Given the description of an element on the screen output the (x, y) to click on. 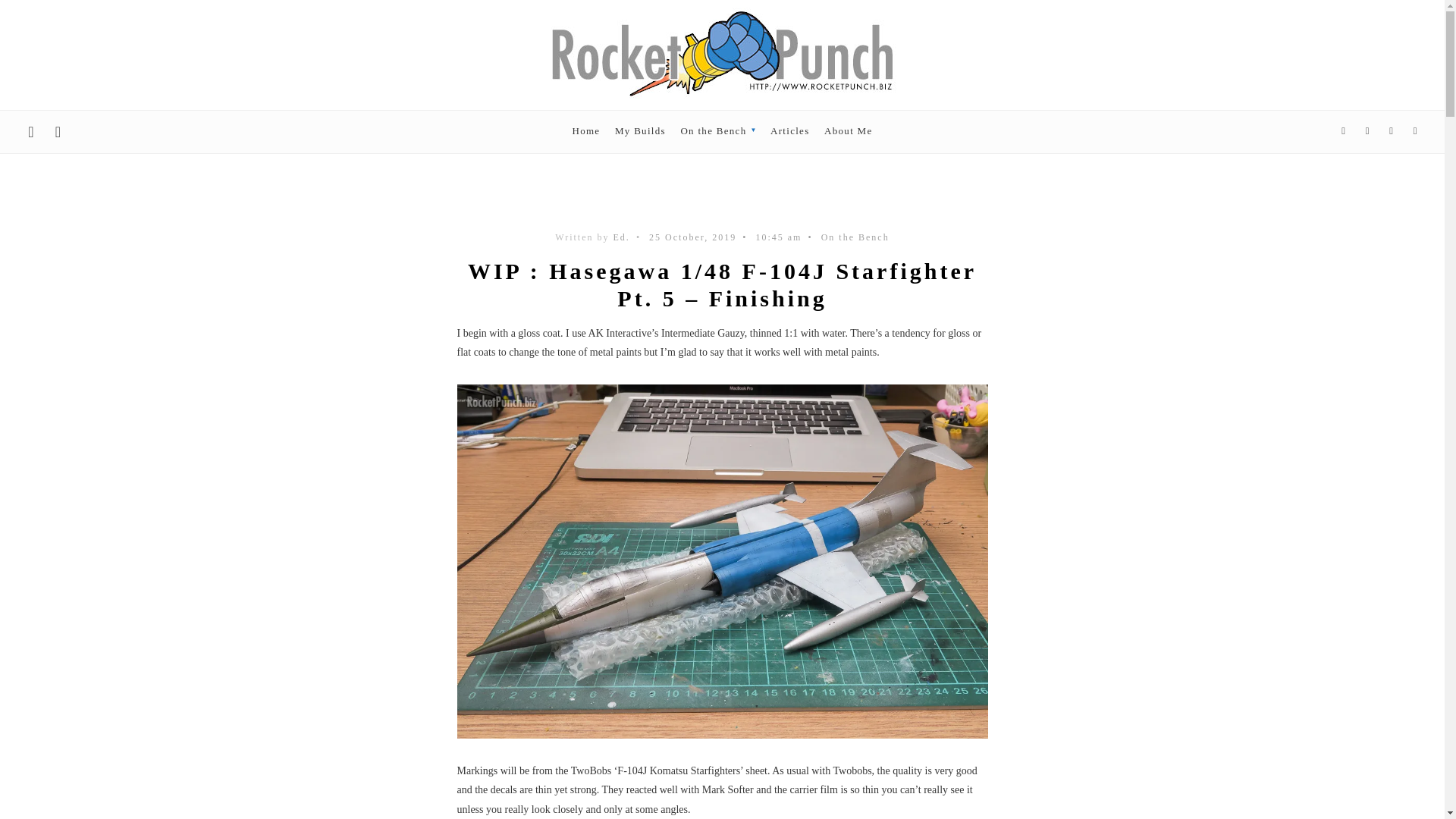
Rss Feed (1343, 131)
Twitter (1366, 131)
Articles (789, 130)
My Builds (639, 130)
On the Bench (717, 130)
Ed. (621, 236)
On the Bench (855, 236)
Pinterest (1415, 131)
Posts by Ed. (621, 236)
About Me (848, 130)
Instagram (1390, 131)
